Given the description of an element on the screen output the (x, y) to click on. 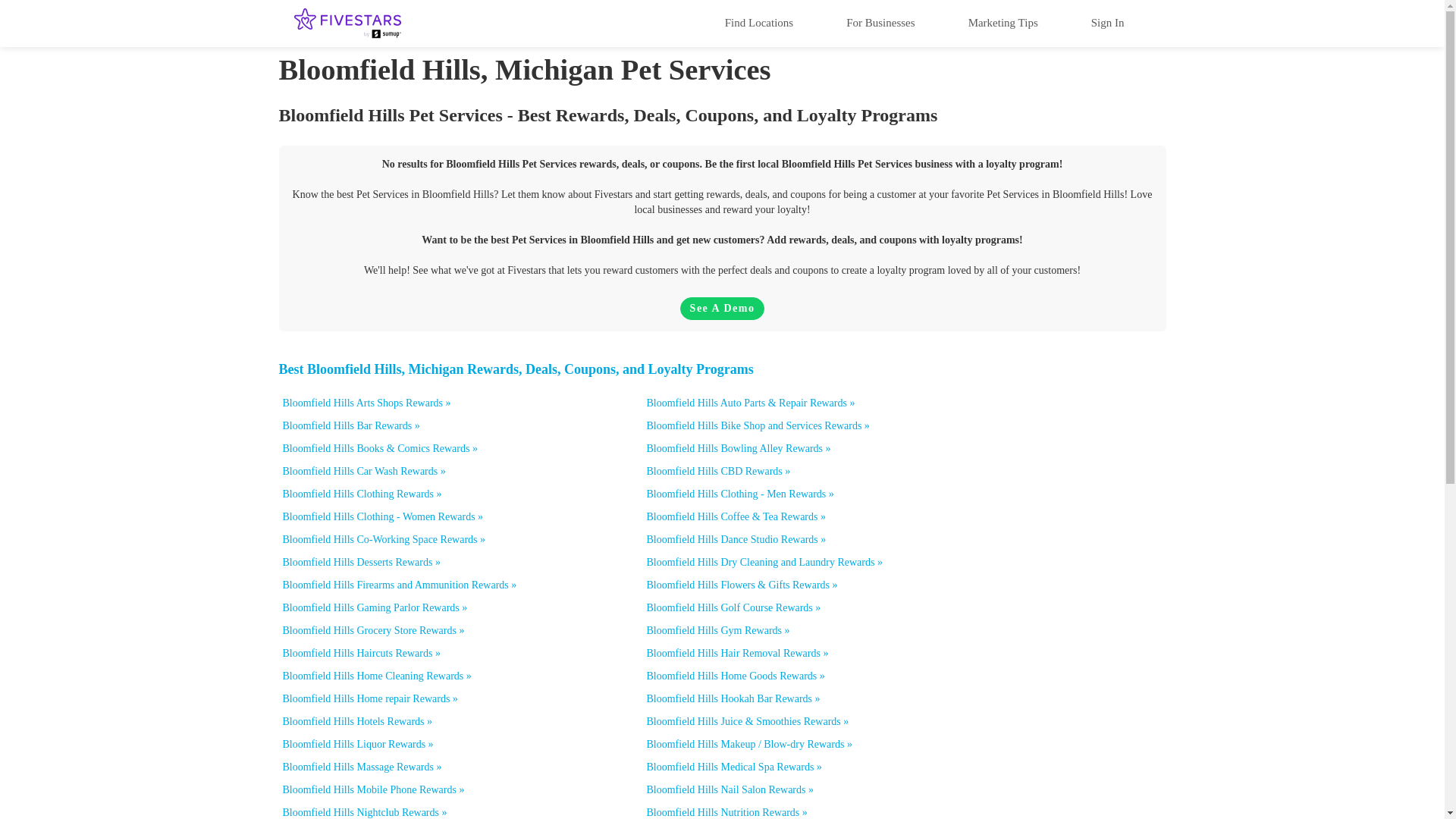
Marketing Tips (1002, 22)
Marketing Tips and Blog (1002, 22)
For Businesses (880, 22)
Find Locations (759, 22)
See a Demo and Learn More About Fivestars (722, 308)
Sign In (1107, 22)
See A Demo (722, 308)
